Given the description of an element on the screen output the (x, y) to click on. 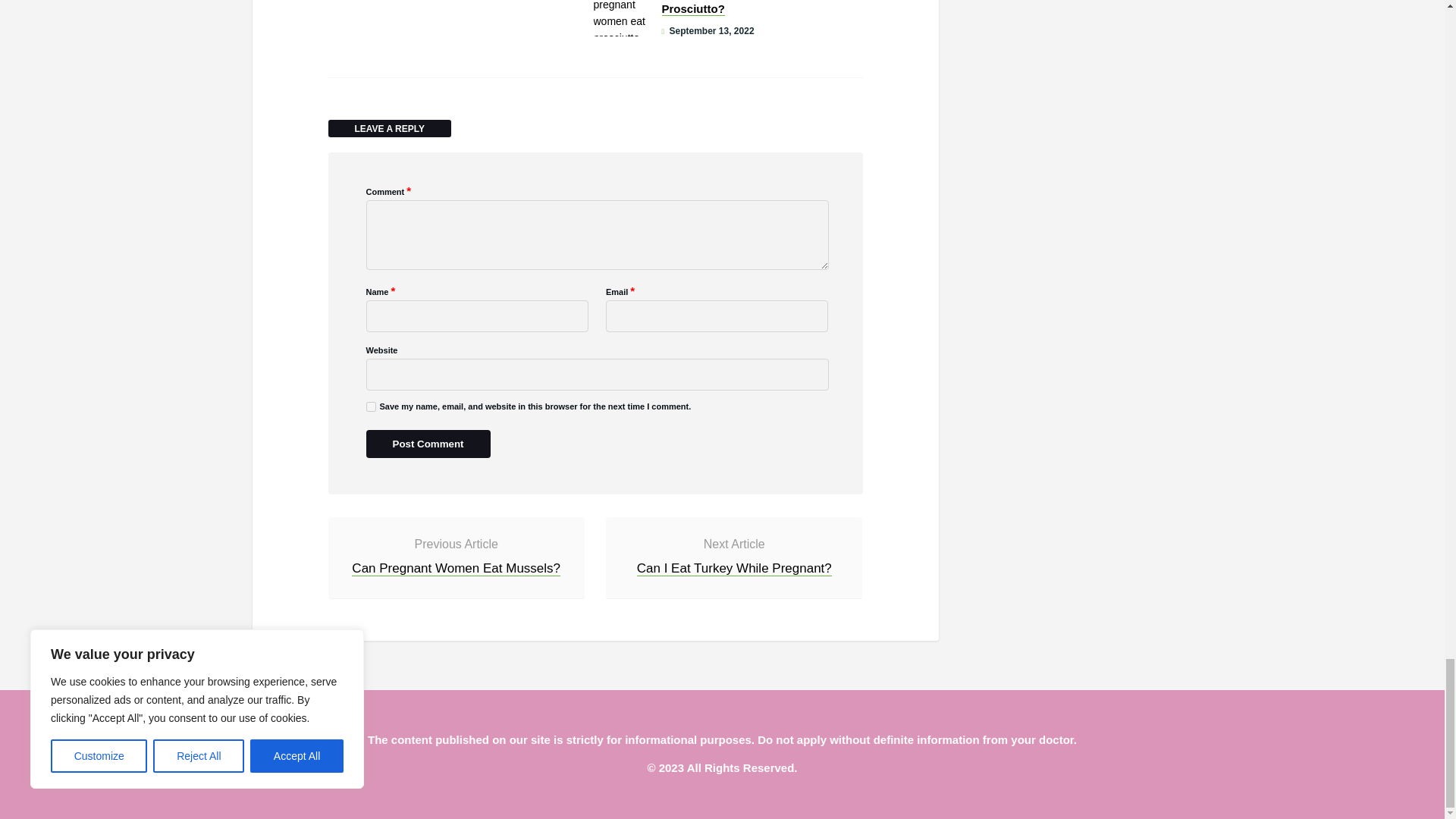
Post Comment (427, 443)
yes (370, 406)
